Given the description of an element on the screen output the (x, y) to click on. 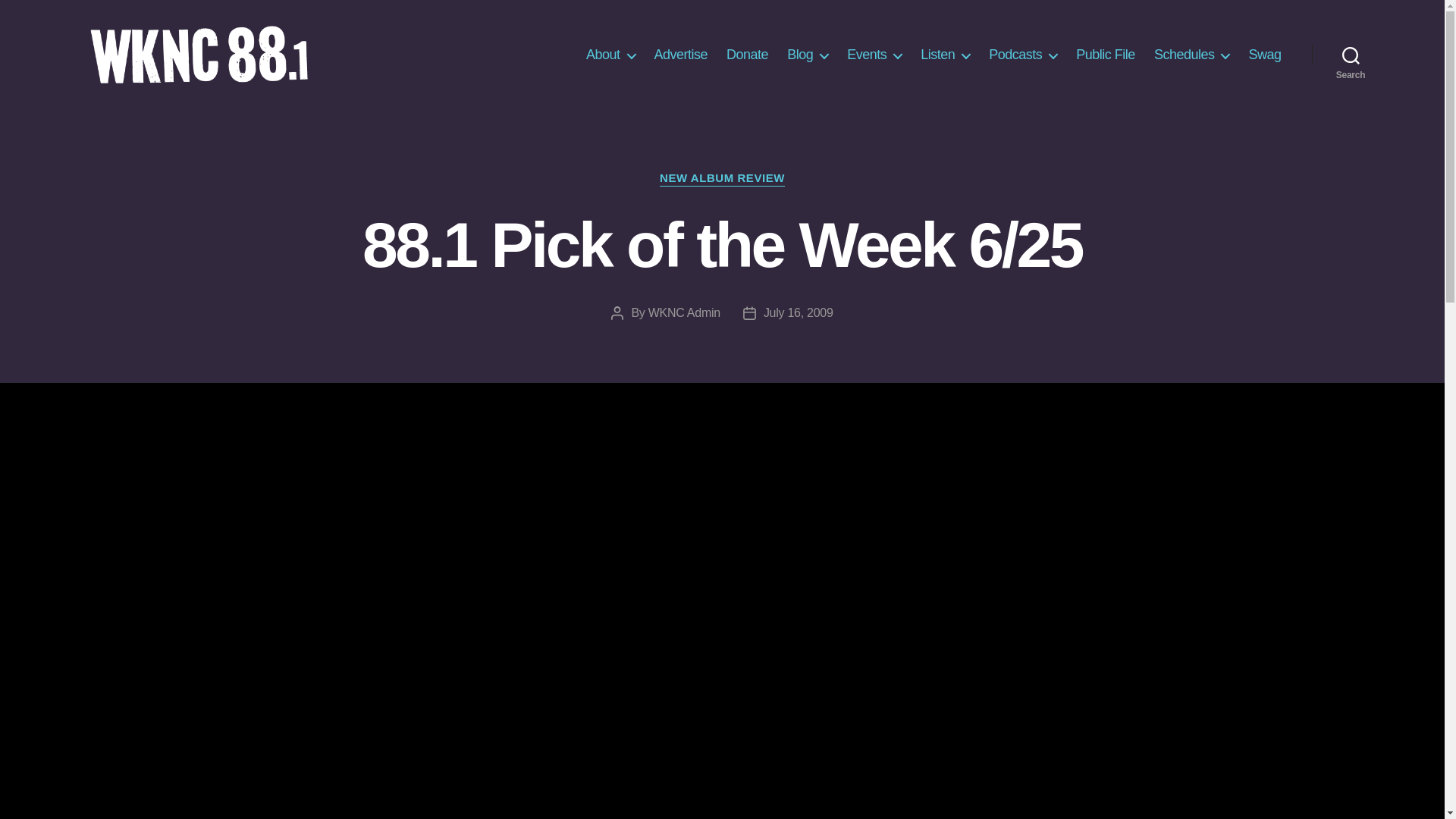
Advertise (680, 54)
Events (874, 54)
About (610, 54)
Donate (747, 54)
Listen (944, 54)
Blog (807, 54)
